Given the description of an element on the screen output the (x, y) to click on. 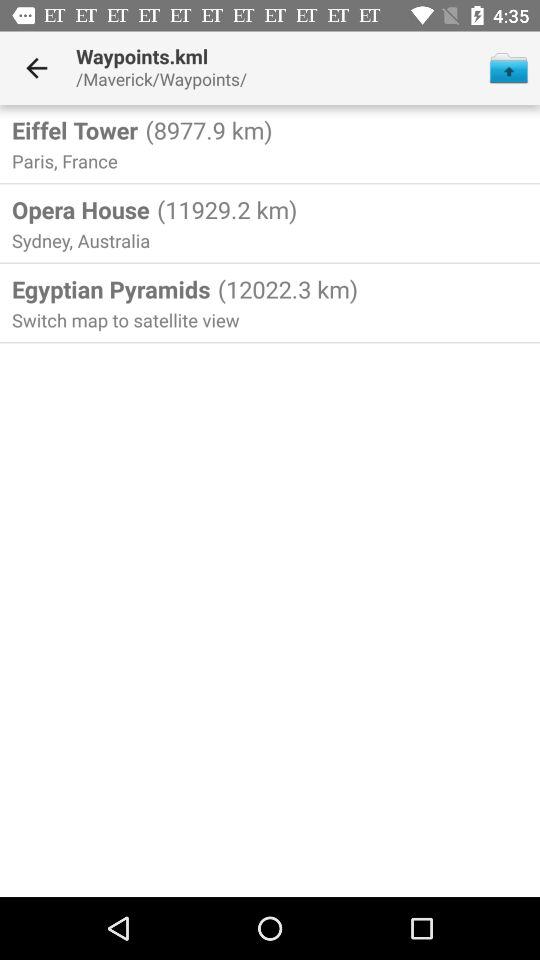
swipe to (11929.2 km) item (224, 209)
